Given the description of an element on the screen output the (x, y) to click on. 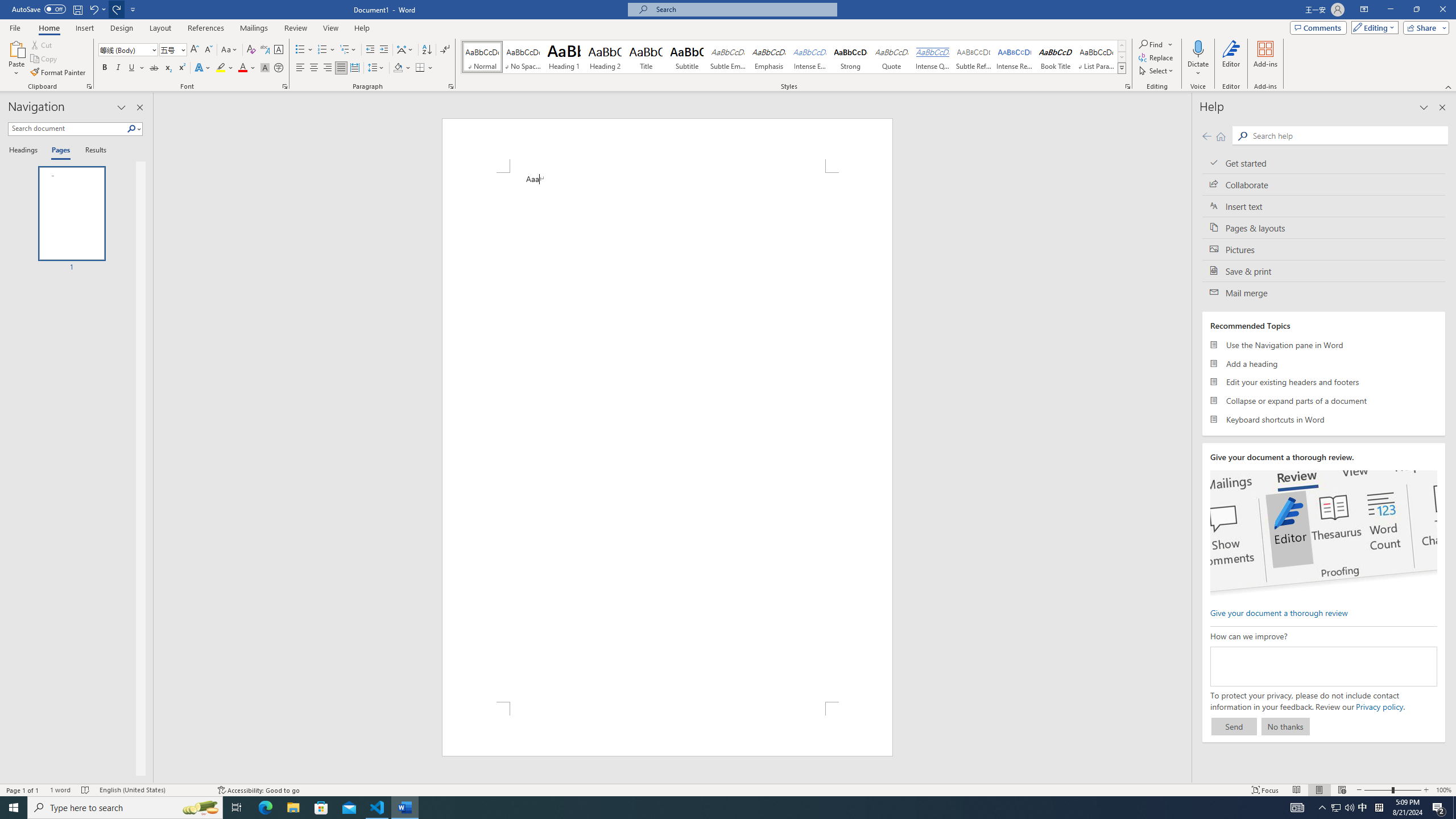
Select (1157, 69)
Give your document a thorough review (1278, 611)
Align Left (300, 67)
Text Highlight Color (224, 67)
Justify (340, 67)
Redo Style (117, 9)
Font... (285, 85)
Grow Font (193, 49)
Styles... (1127, 85)
